Given the description of an element on the screen output the (x, y) to click on. 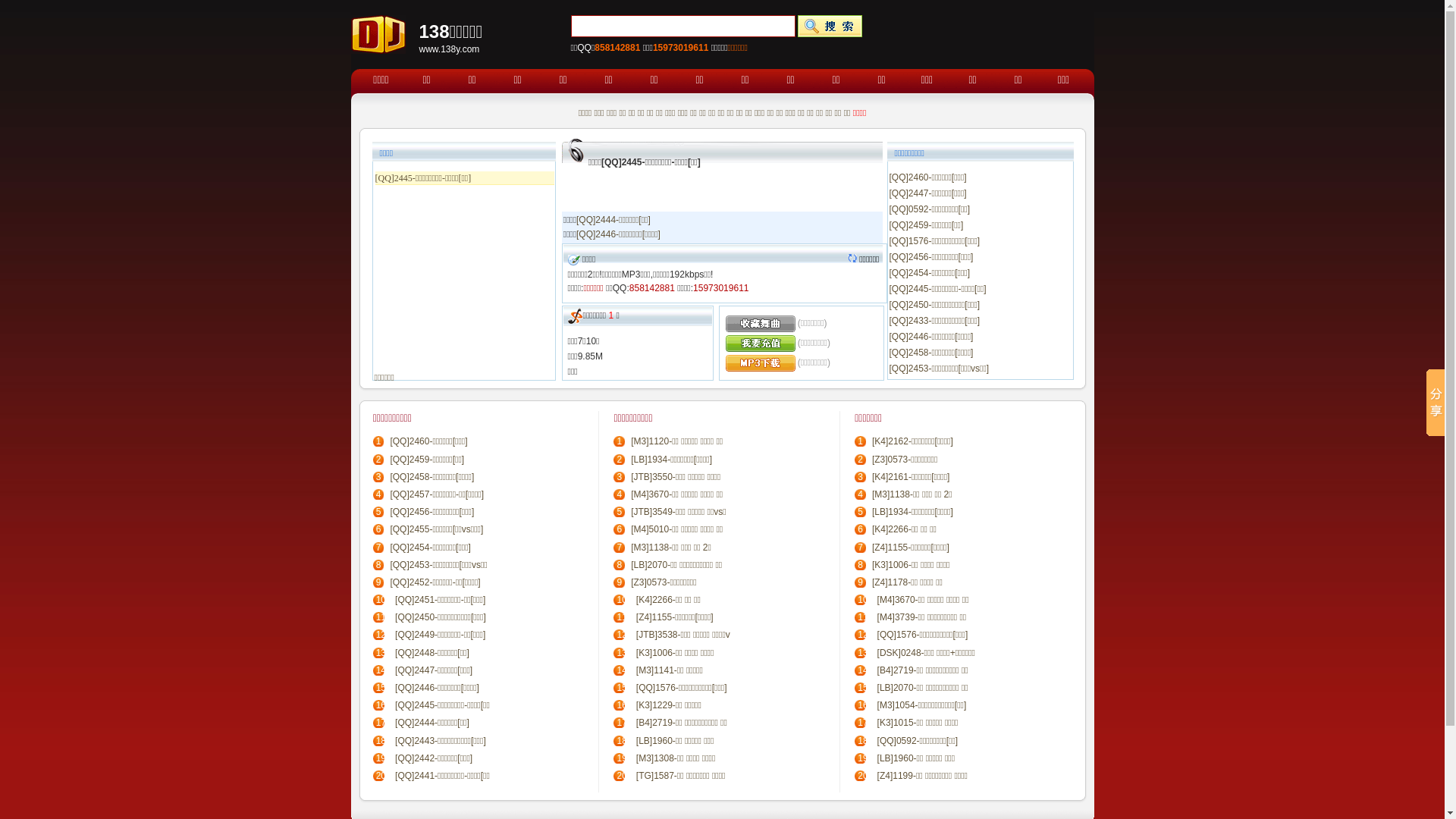
858142881 Element type: text (617, 47)
858142881 Element type: text (651, 287)
